Given the description of an element on the screen output the (x, y) to click on. 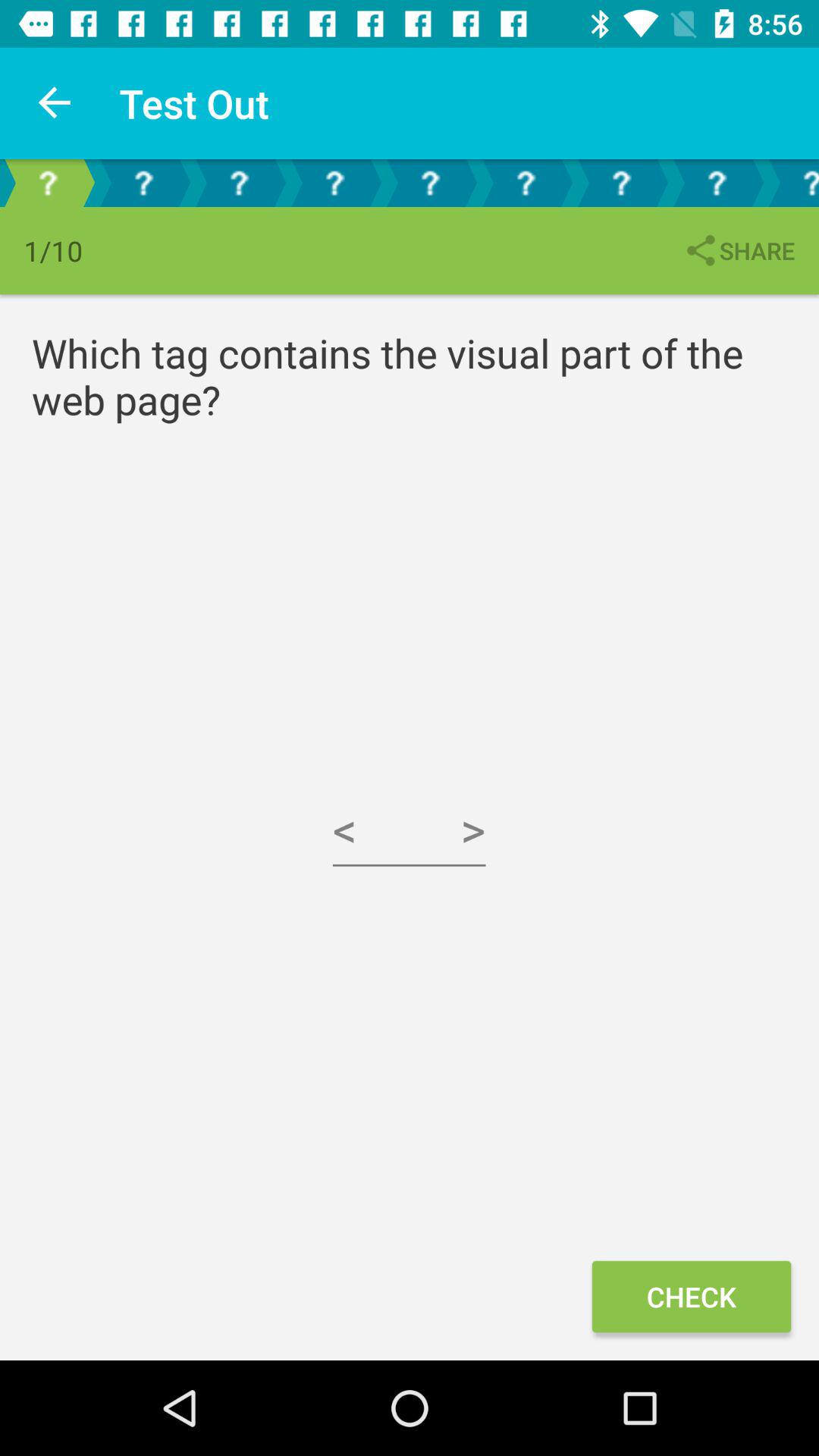
go to question 2 of 10 (143, 183)
